Given the description of an element on the screen output the (x, y) to click on. 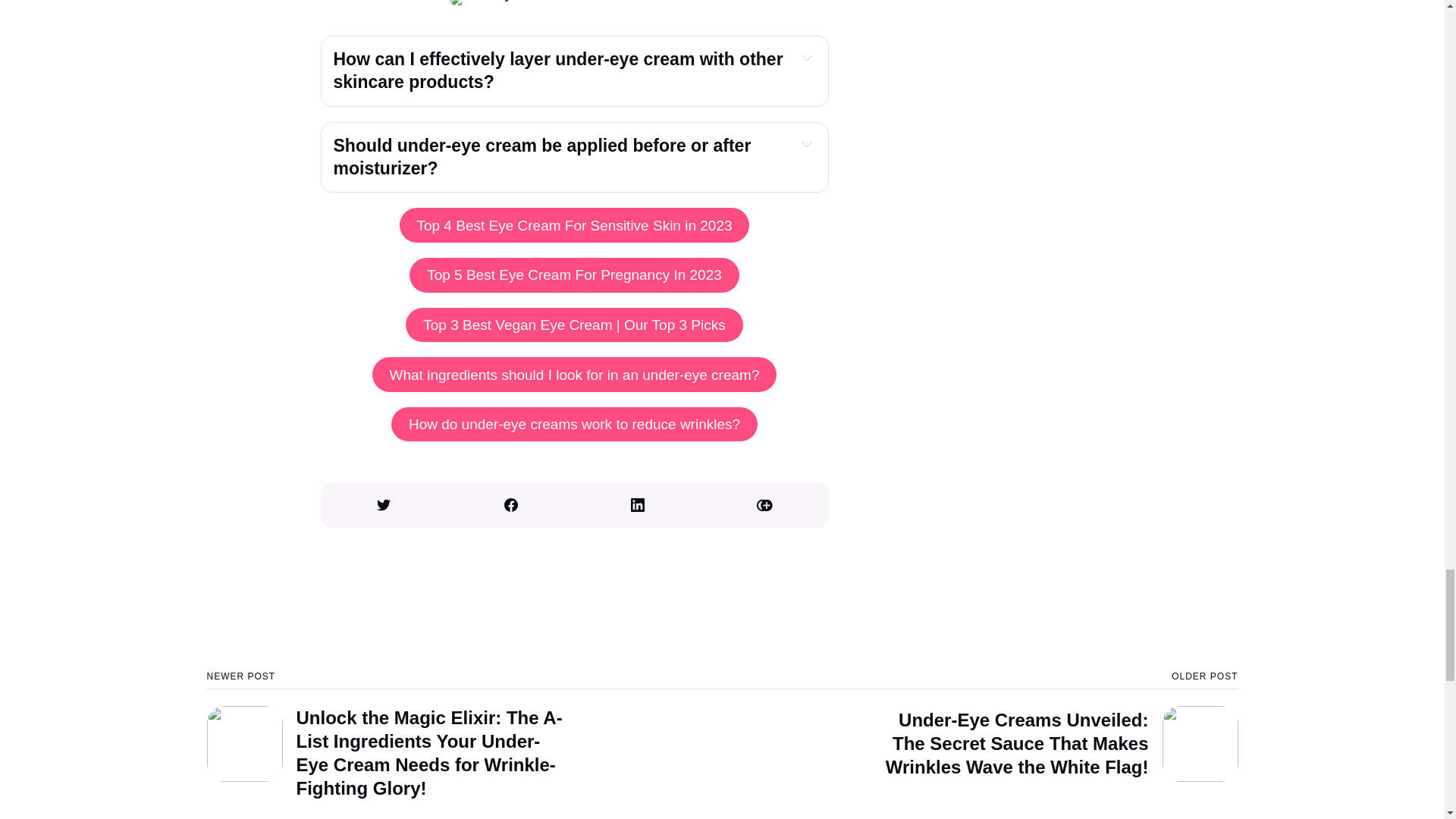
Top 4 Best Eye Cream For Sensitive Skin in 2023 (573, 225)
What ingredients should I look for in an under-eye cream? (574, 374)
How do under-eye creams work to reduce wrinkles? (574, 424)
Top 5 Best Eye Cream For Pregnancy In 2023 (573, 274)
